Given the description of an element on the screen output the (x, y) to click on. 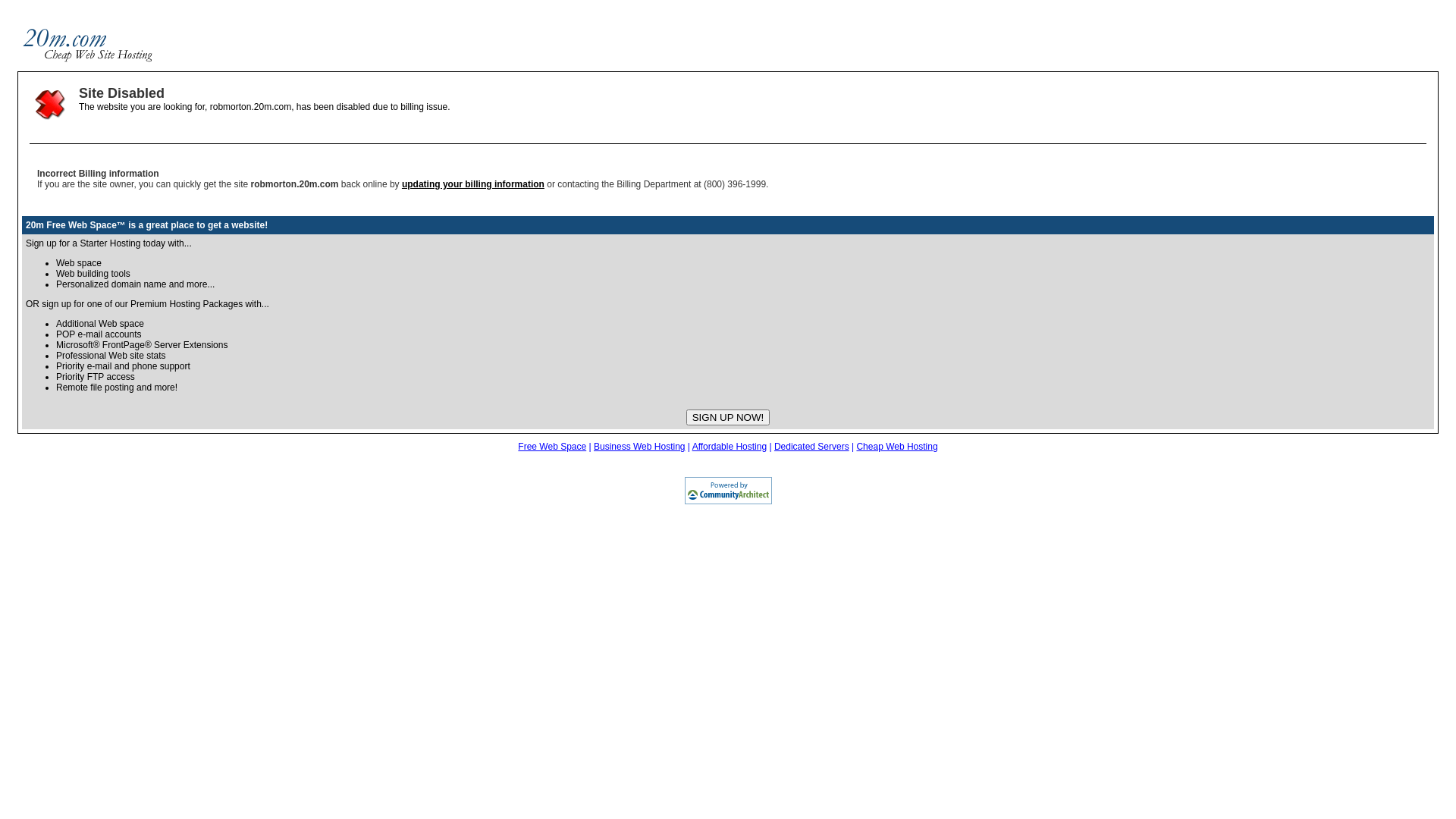
Free Web Space Element type: text (551, 446)
Dedicated Servers Element type: text (811, 446)
Business Web Hosting Element type: text (639, 446)
updating your billing information Element type: text (472, 183)
Cheap Web Hosting Element type: text (896, 446)
Affordable Hosting Element type: text (729, 446)
SIGN UP NOW! Element type: text (728, 417)
